Given the description of an element on the screen output the (x, y) to click on. 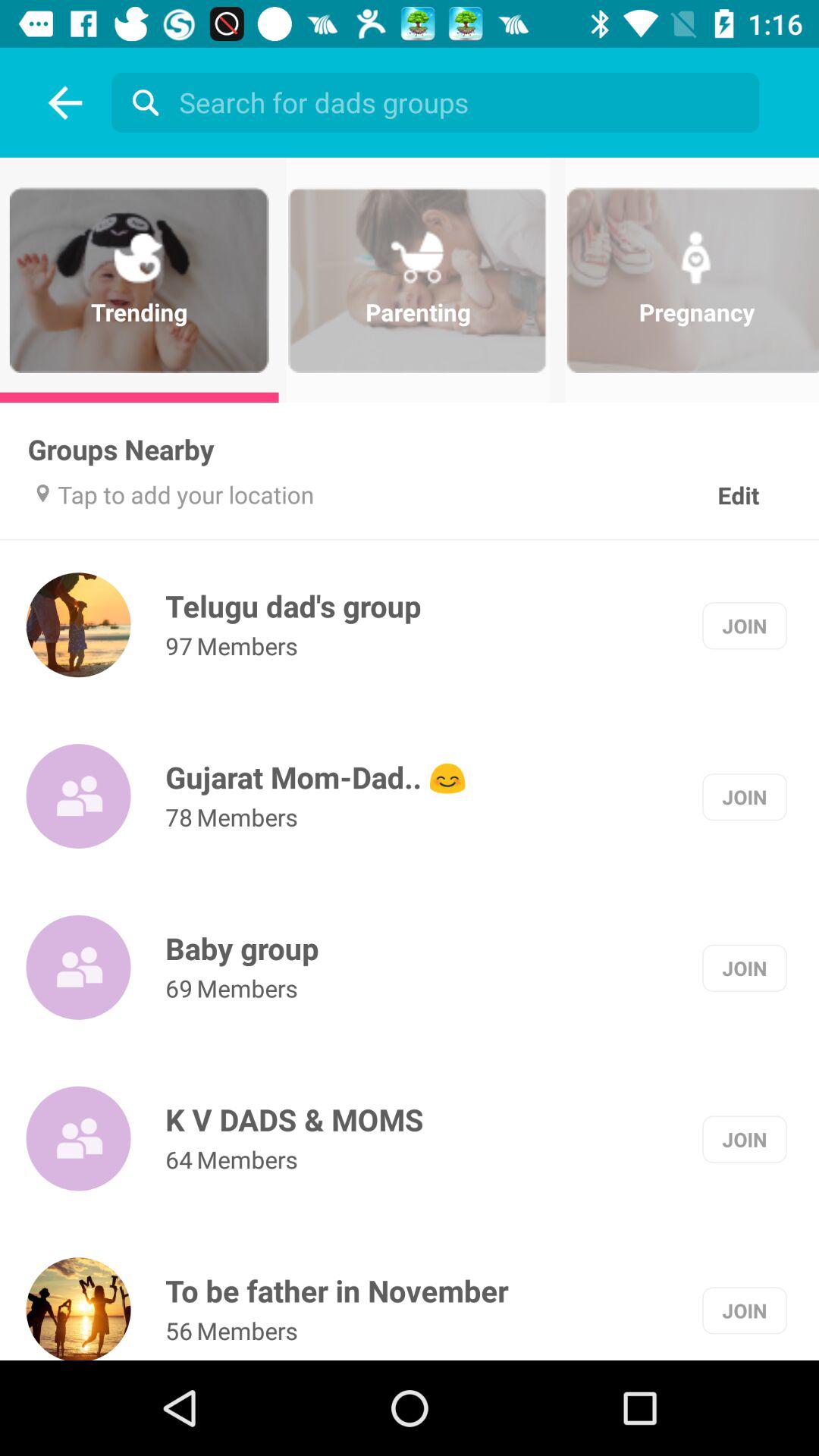
search box (439, 102)
